Given the description of an element on the screen output the (x, y) to click on. 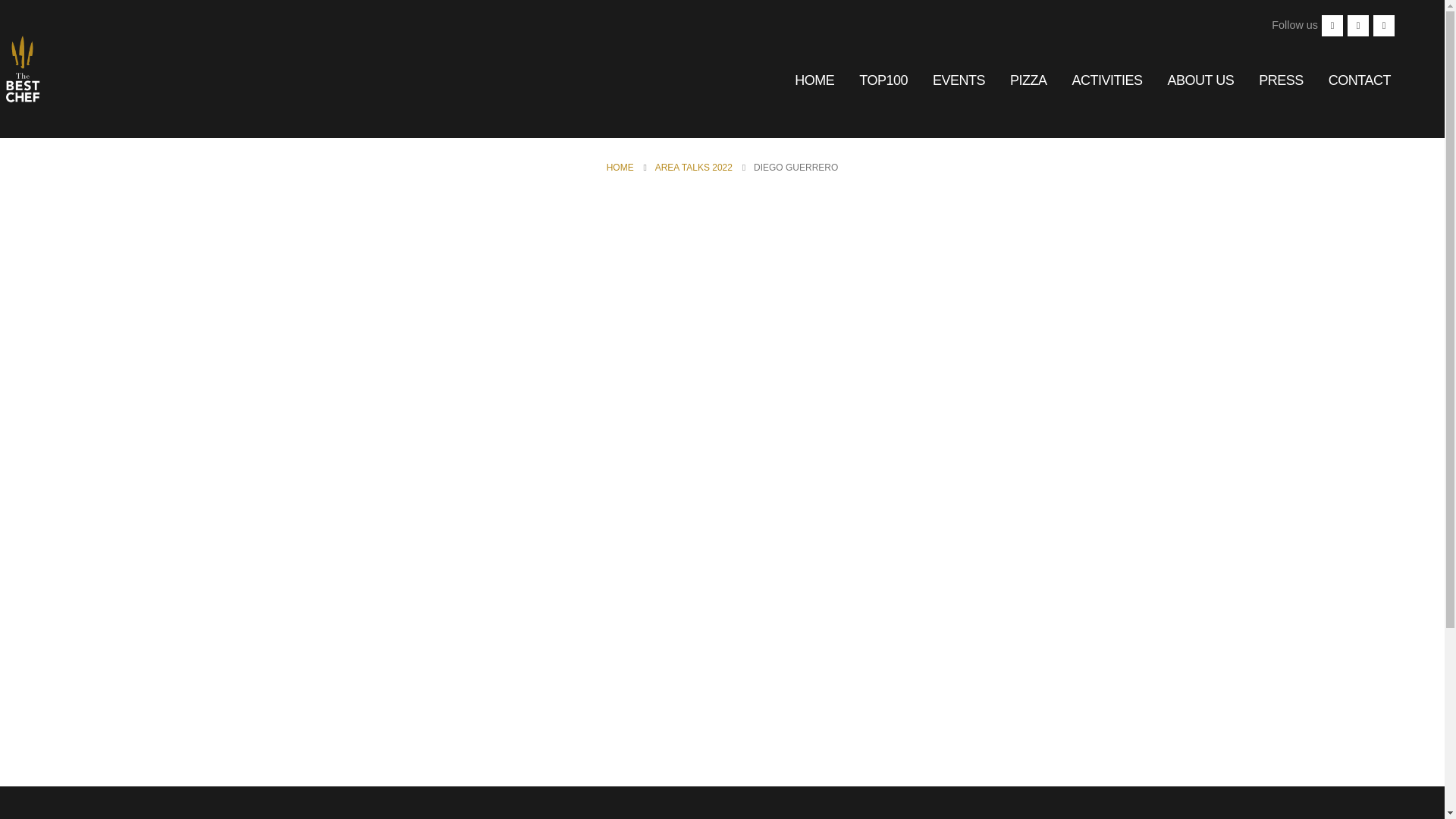
CONTACT (1359, 79)
Facebook (1332, 25)
EVENTS (958, 79)
Youtube (1358, 25)
ABOUT US (1201, 79)
Instagram (1383, 25)
Go to Home Page (620, 167)
PRESS (1281, 79)
TOP100 (883, 79)
ACTIVITIES (1106, 79)
